Given the description of an element on the screen output the (x, y) to click on. 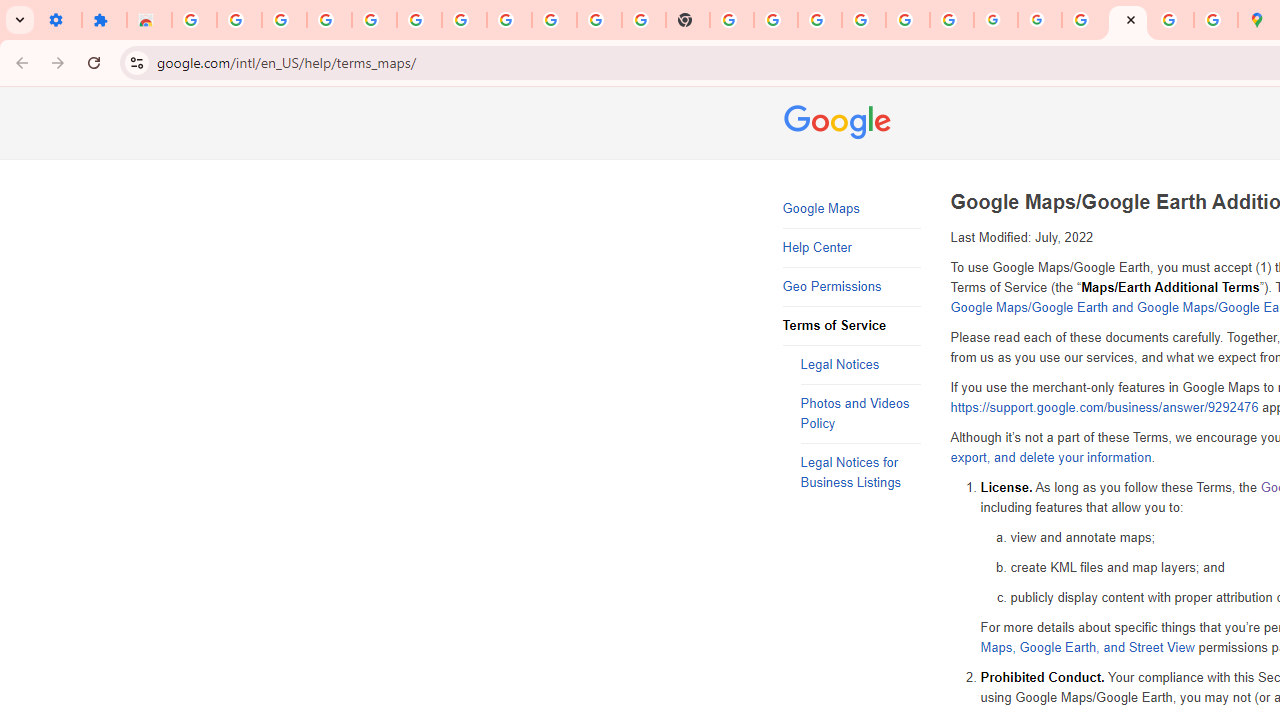
Reviews: Helix Fruit Jump Arcade Game (148, 20)
Sign in - Google Accounts (464, 20)
Terms of Service (851, 326)
Delete photos & videos - Computer - Google Photos Help (329, 20)
System (10, 11)
Help Center (851, 247)
Google Account (554, 20)
Learn how to find your photos - Google Photos Help (374, 20)
